Given the description of an element on the screen output the (x, y) to click on. 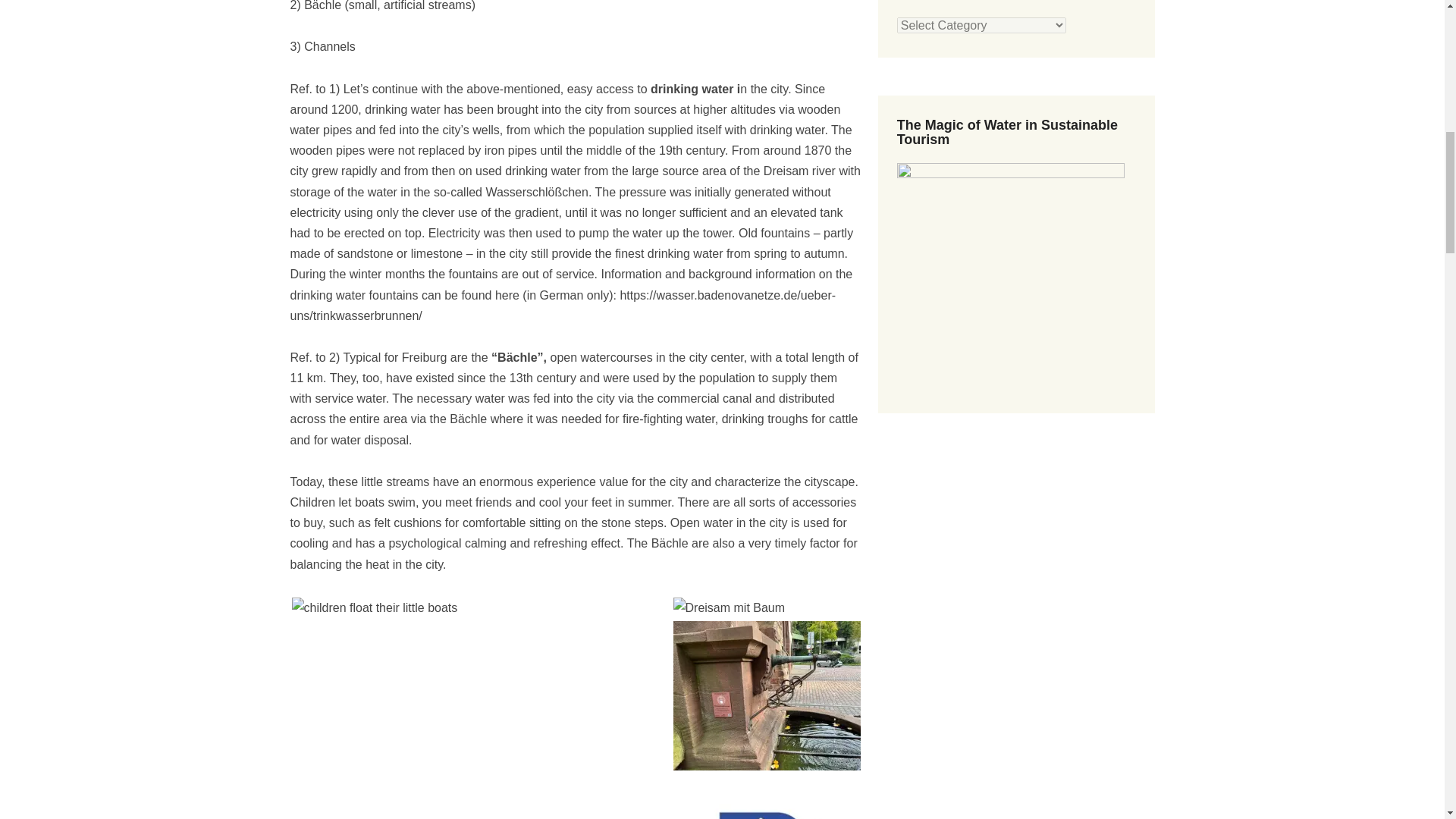
children float their little boats (374, 607)
Drinking water fountain3 (772, 695)
FrauBlau Focus Water (772, 796)
Dreisam mit Baum (729, 607)
